Given the description of an element on the screen output the (x, y) to click on. 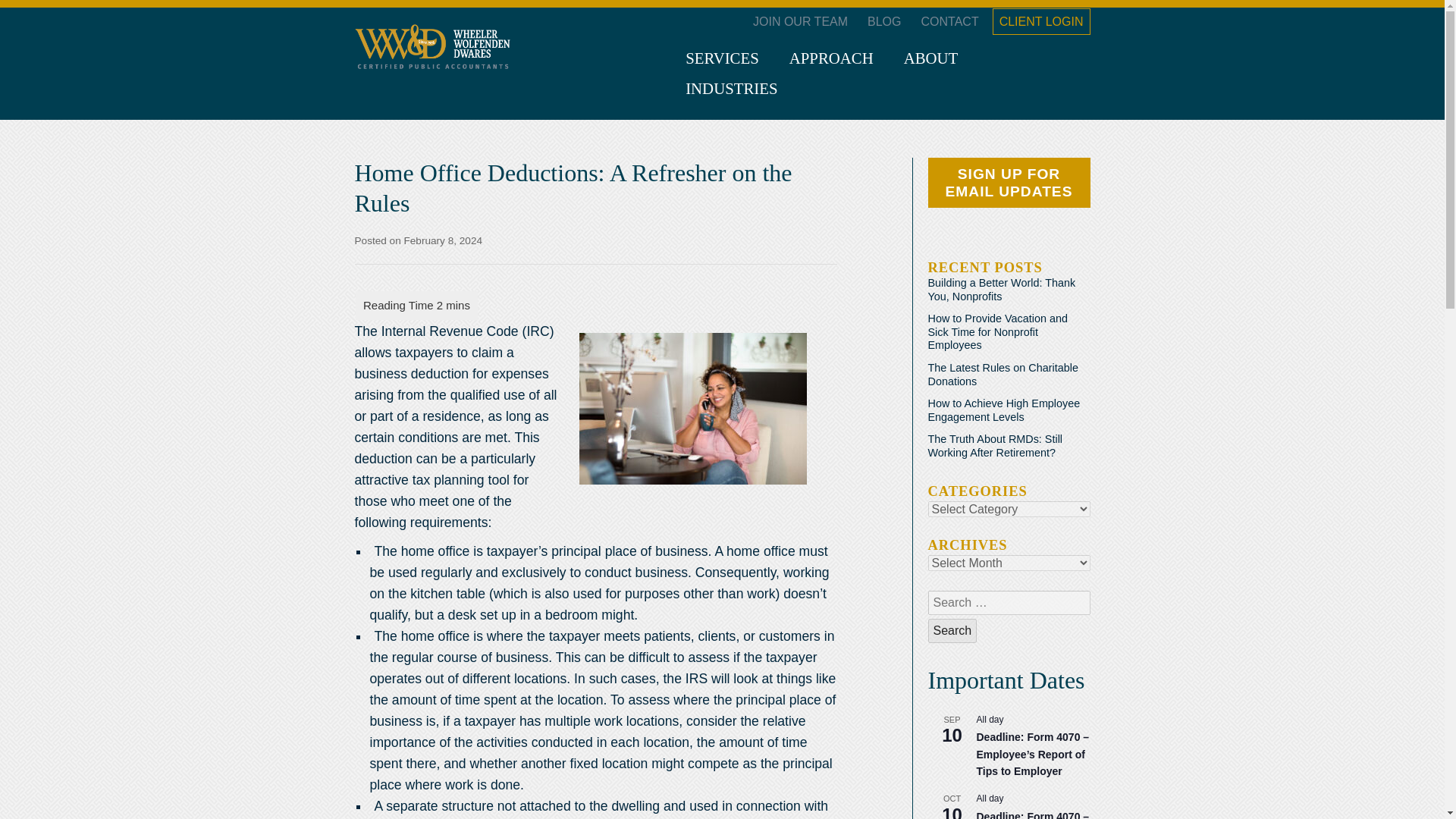
Building a Better World: Thank You, Nonprofits (1001, 289)
BLOG (884, 21)
SERVICES (721, 58)
How to Achieve High Employee Engagement Levels (1004, 410)
SIGN UP FOR EMAIL UPDATES (1009, 183)
ABOUT (931, 58)
CLIENT LOGIN (1041, 21)
The Latest Rules on Charitable Donations (1003, 374)
JOIN OUR TEAM (799, 21)
